Given the description of an element on the screen output the (x, y) to click on. 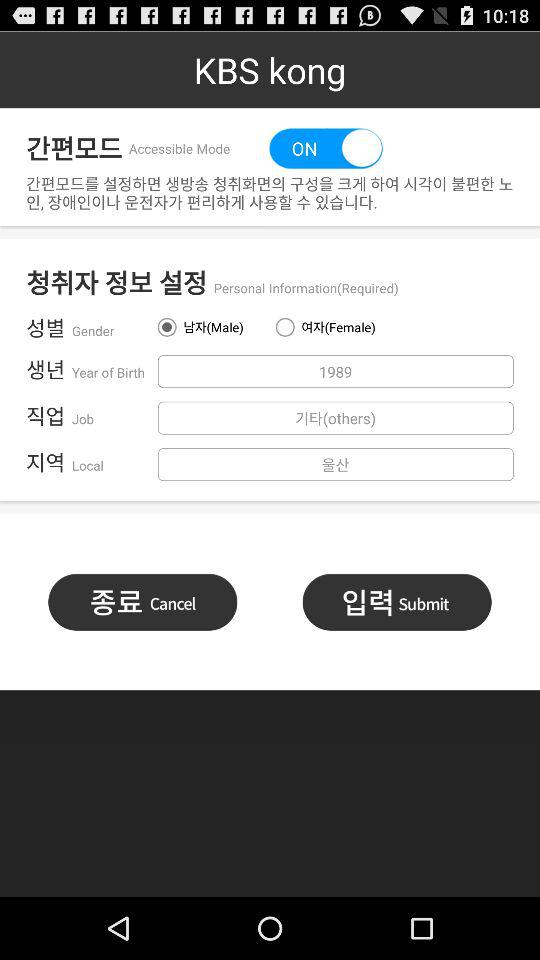
tap app to the right of the gender app (209, 327)
